Given the description of an element on the screen output the (x, y) to click on. 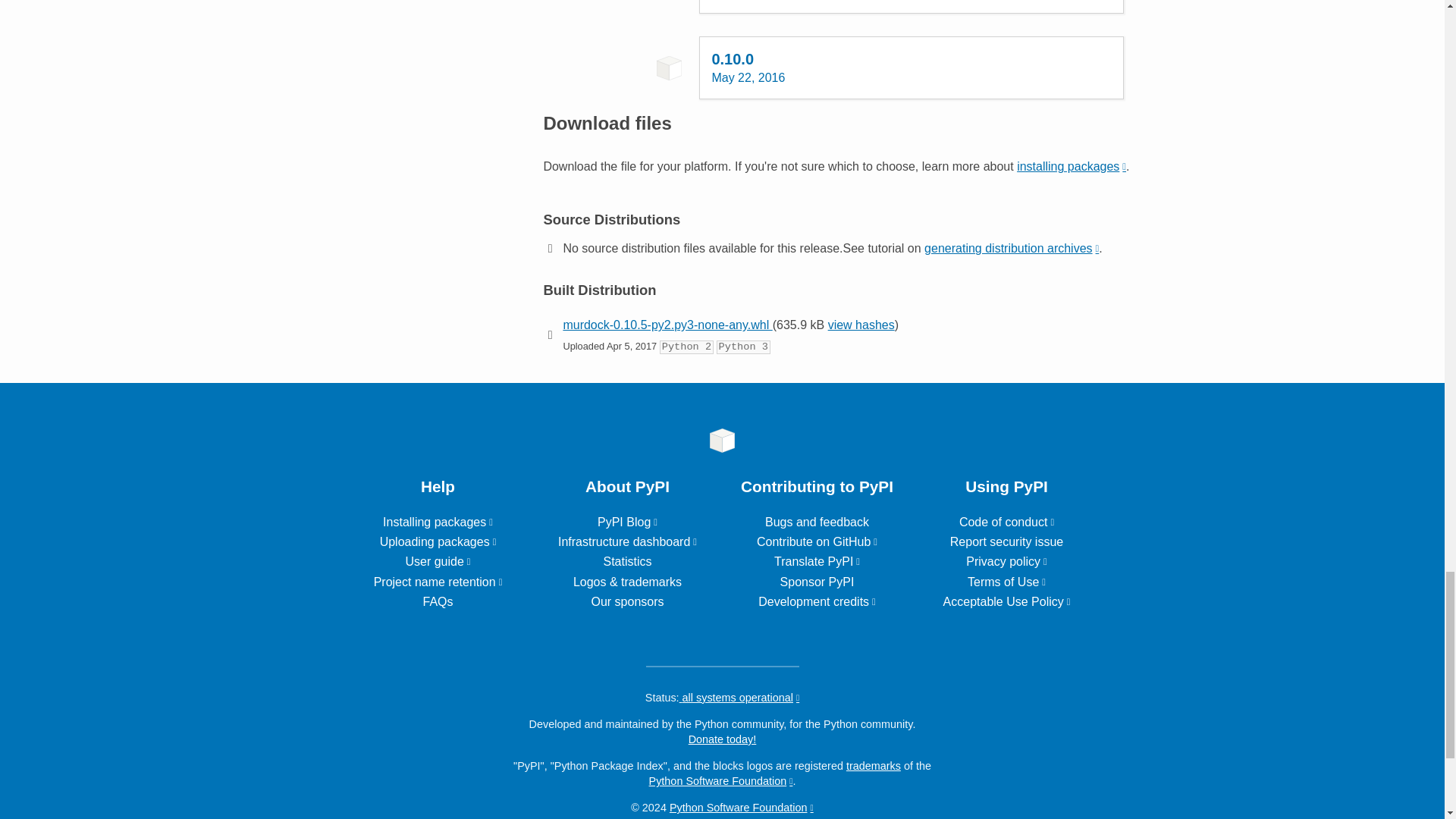
External link (438, 581)
External link (1011, 247)
External link (817, 541)
External link (437, 521)
External link (1006, 521)
External link (817, 561)
External link (437, 561)
External link (627, 521)
External link (627, 541)
External link (1070, 165)
